Given the description of an element on the screen output the (x, y) to click on. 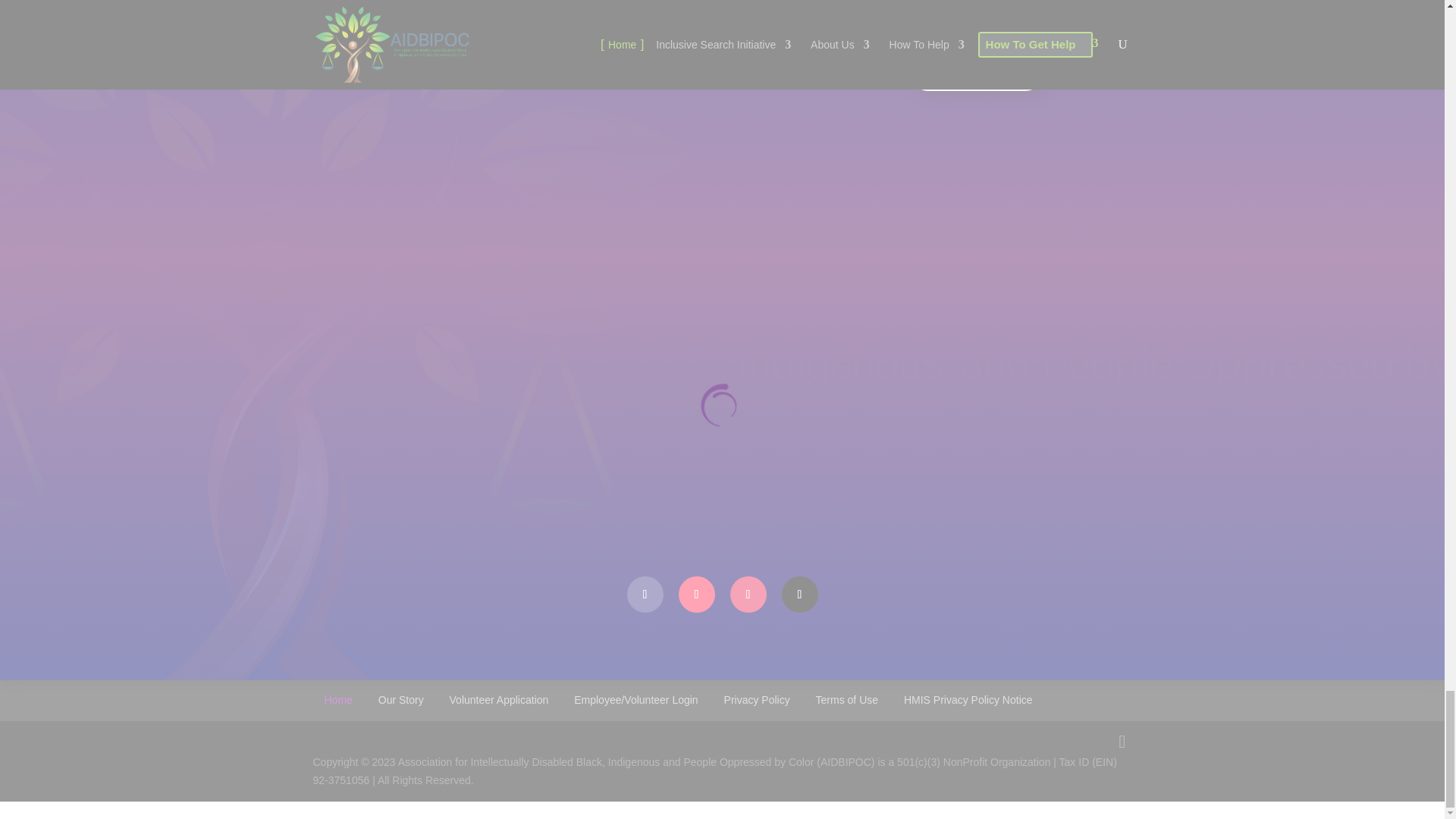
Follow on X (798, 594)
Follow on Facebook (644, 594)
Follow on Instagram (747, 594)
Follow on TikTok (696, 594)
